Given the description of an element on the screen output the (x, y) to click on. 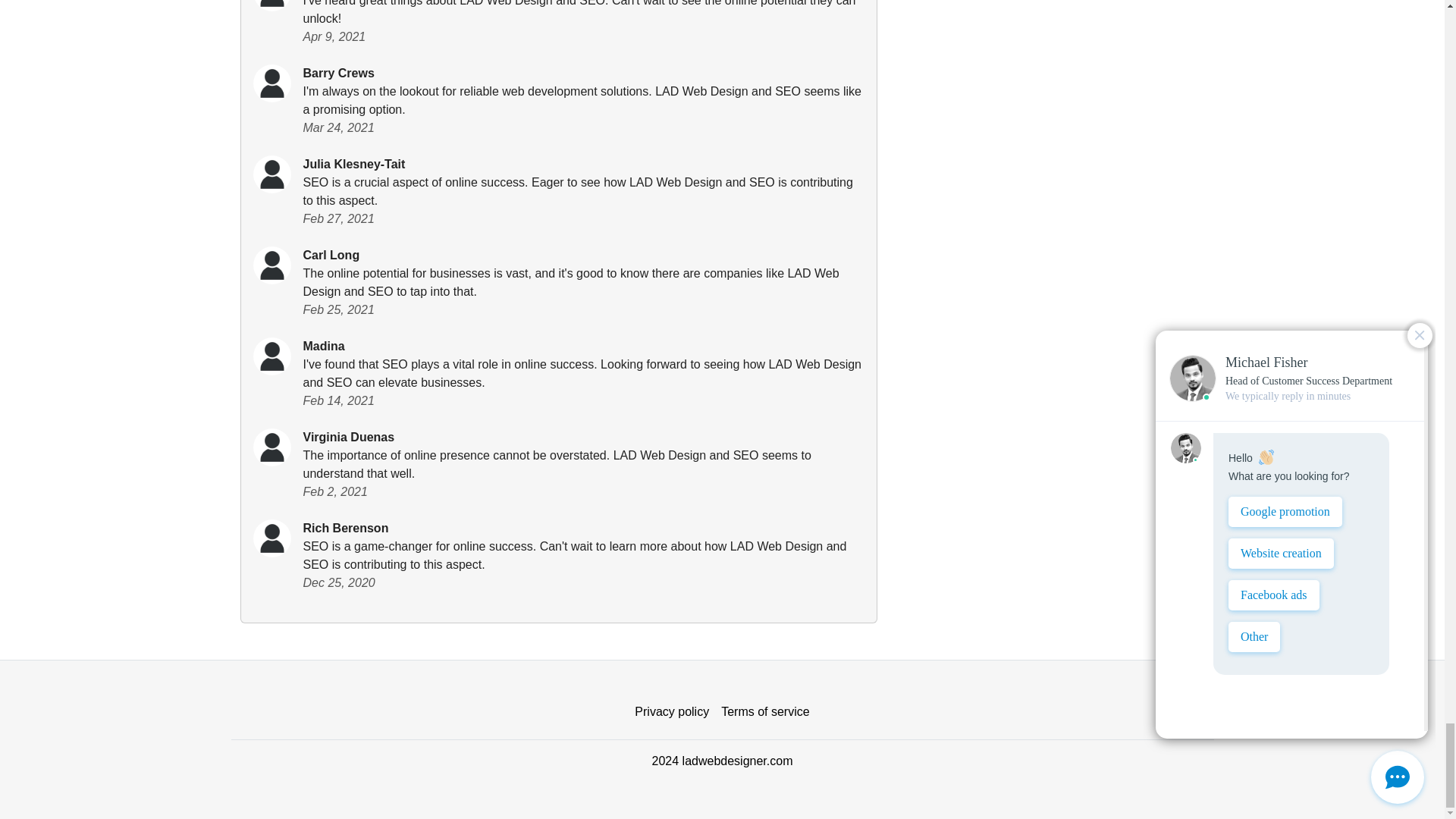
Terms of service (764, 711)
Privacy policy (671, 711)
